Given the description of an element on the screen output the (x, y) to click on. 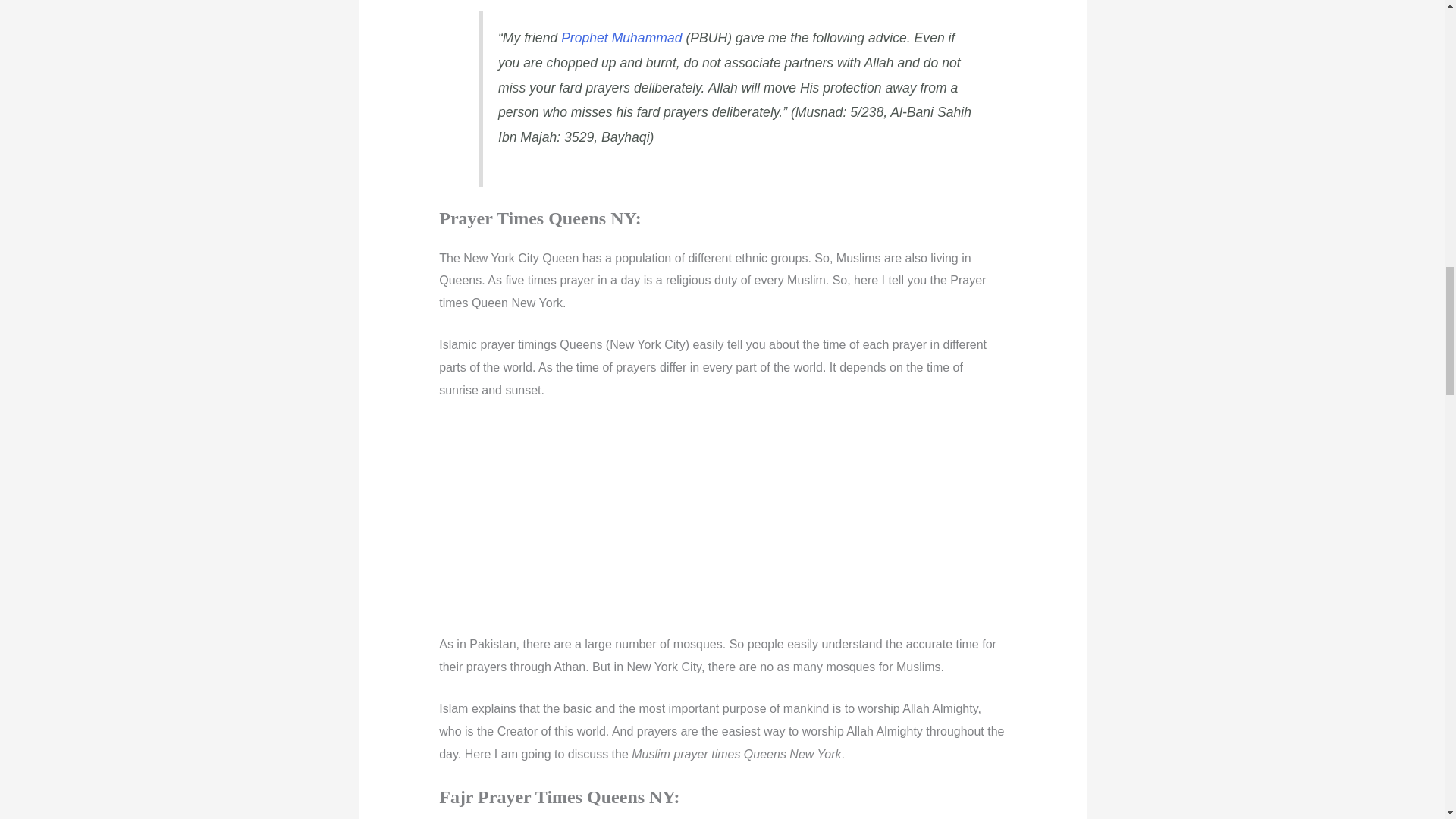
Advertisement (722, 526)
Prophet Muhammad (620, 37)
